Given the description of an element on the screen output the (x, y) to click on. 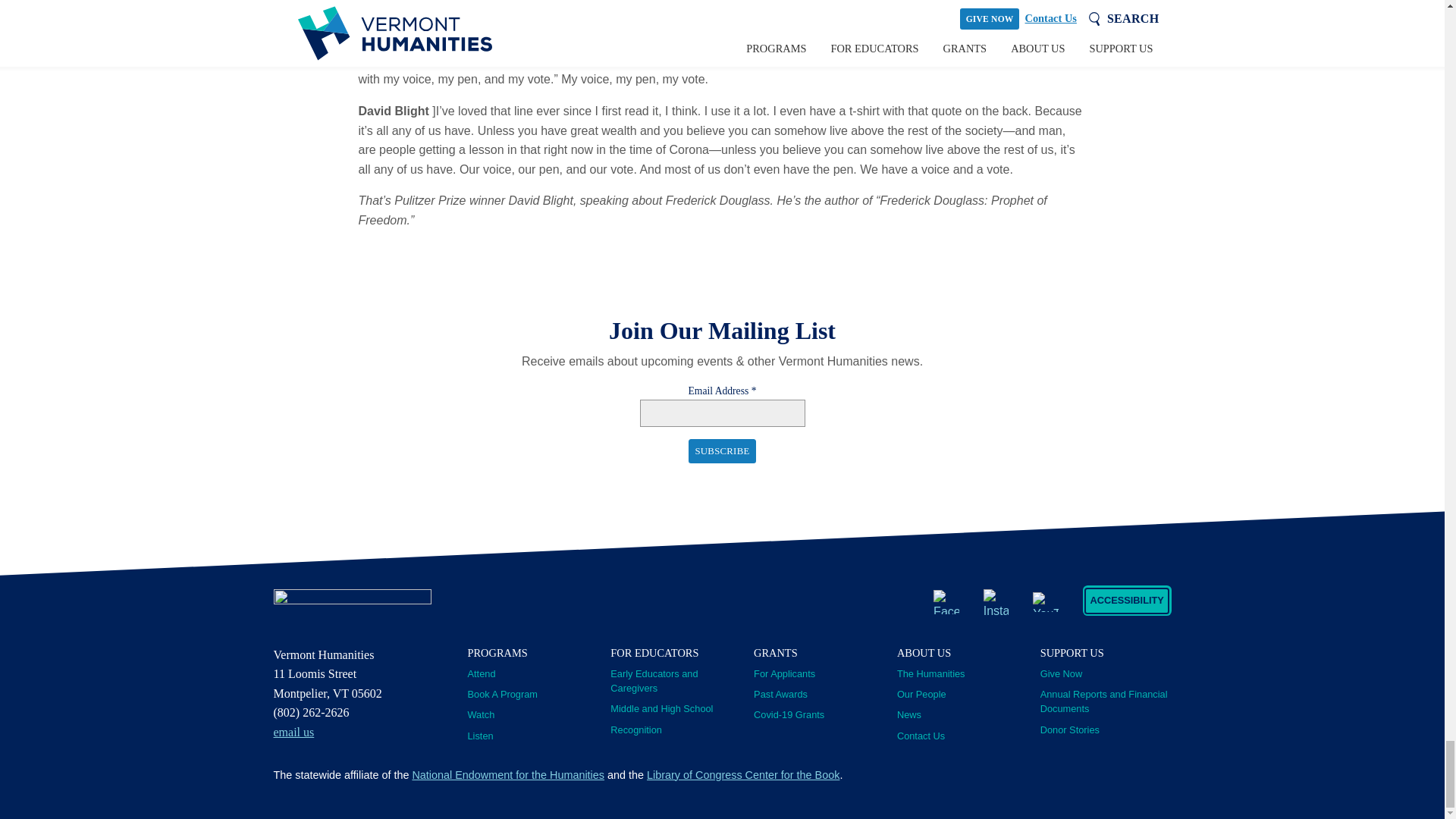
Subscribe (721, 450)
